Given the description of an element on the screen output the (x, y) to click on. 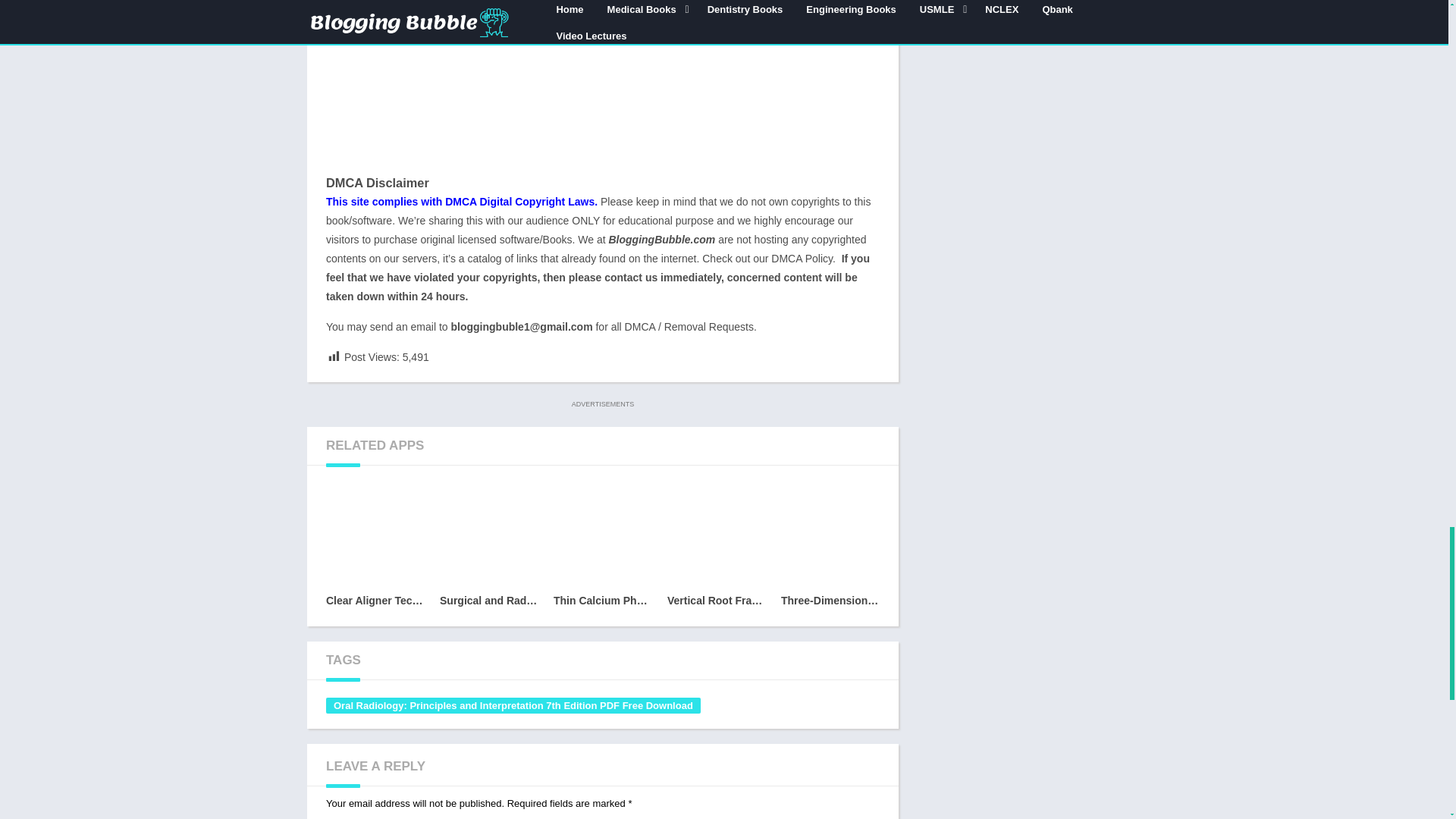
Vertical Root Fractures in Dentistry PDF Free Download (716, 548)
Clear Aligner Technique PDF Free Download (375, 548)
